Given the description of an element on the screen output the (x, y) to click on. 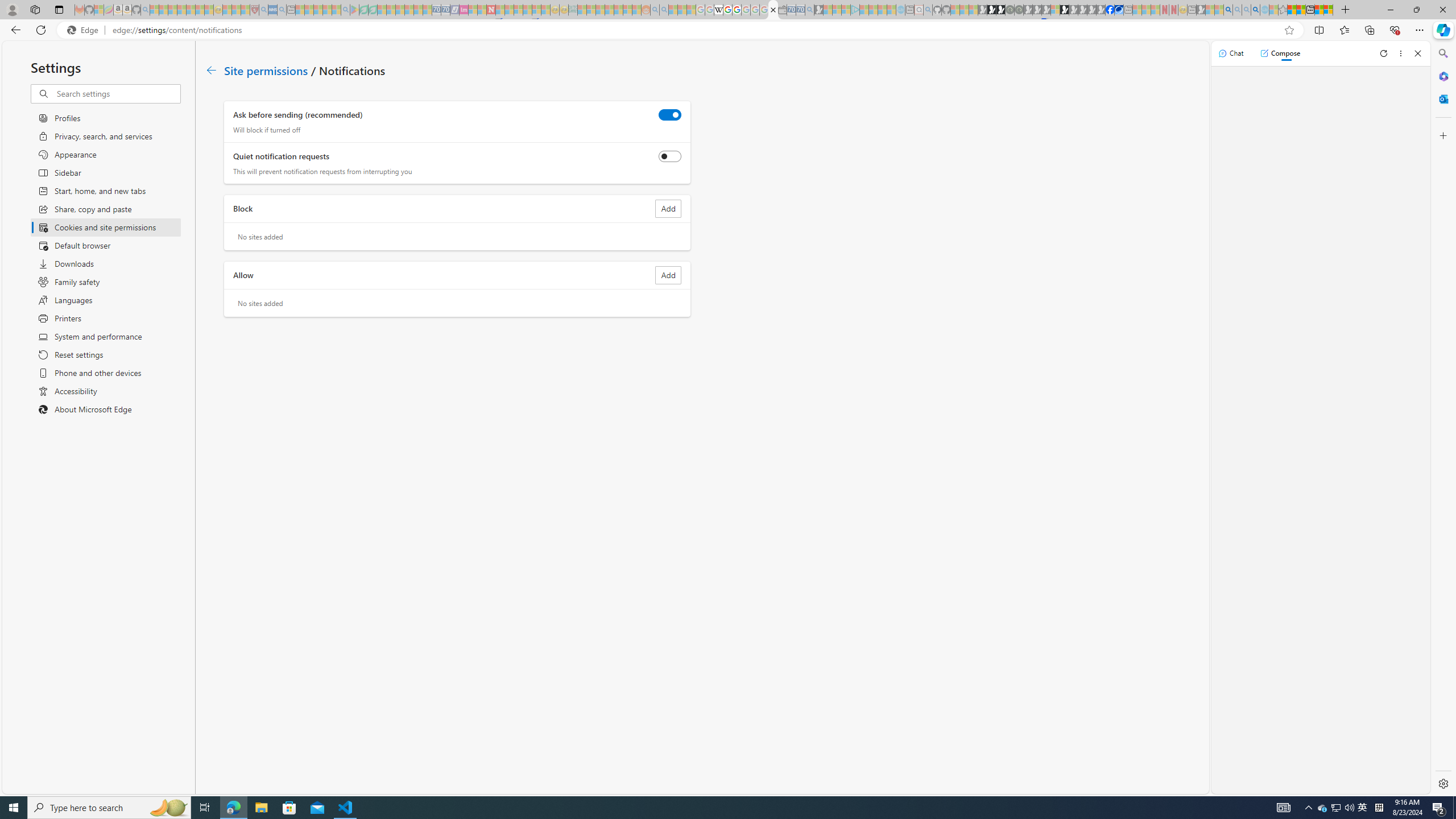
Kinda Frugal - MSN - Sleeping (617, 9)
Privacy Help Center - Policies Help (726, 9)
Sign in to your account - Sleeping (1054, 9)
list of asthma inhalers uk - Search - Sleeping (263, 9)
Edge (84, 29)
Bing Real Estate - Home sales and rental listings - Sleeping (809, 9)
